Given the description of an element on the screen output the (x, y) to click on. 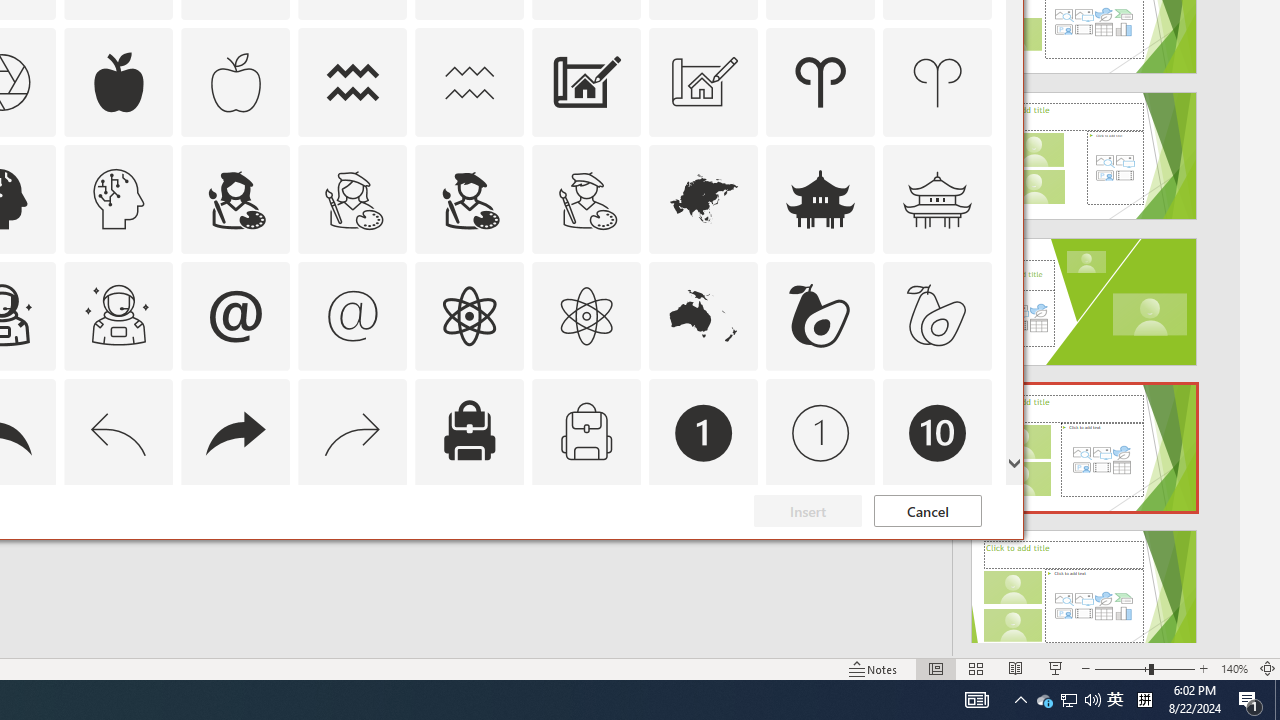
AutomationID: Icons_Badge6_M (235, 550)
AutomationID: Icons_AstronautMale_M (118, 316)
AutomationID: Icons_Atom (469, 316)
AutomationID: Icons_Asia (703, 198)
AutomationID: Icons_Badge9_M (938, 550)
AutomationID: Icons_ArtistMale (469, 198)
